Given the description of an element on the screen output the (x, y) to click on. 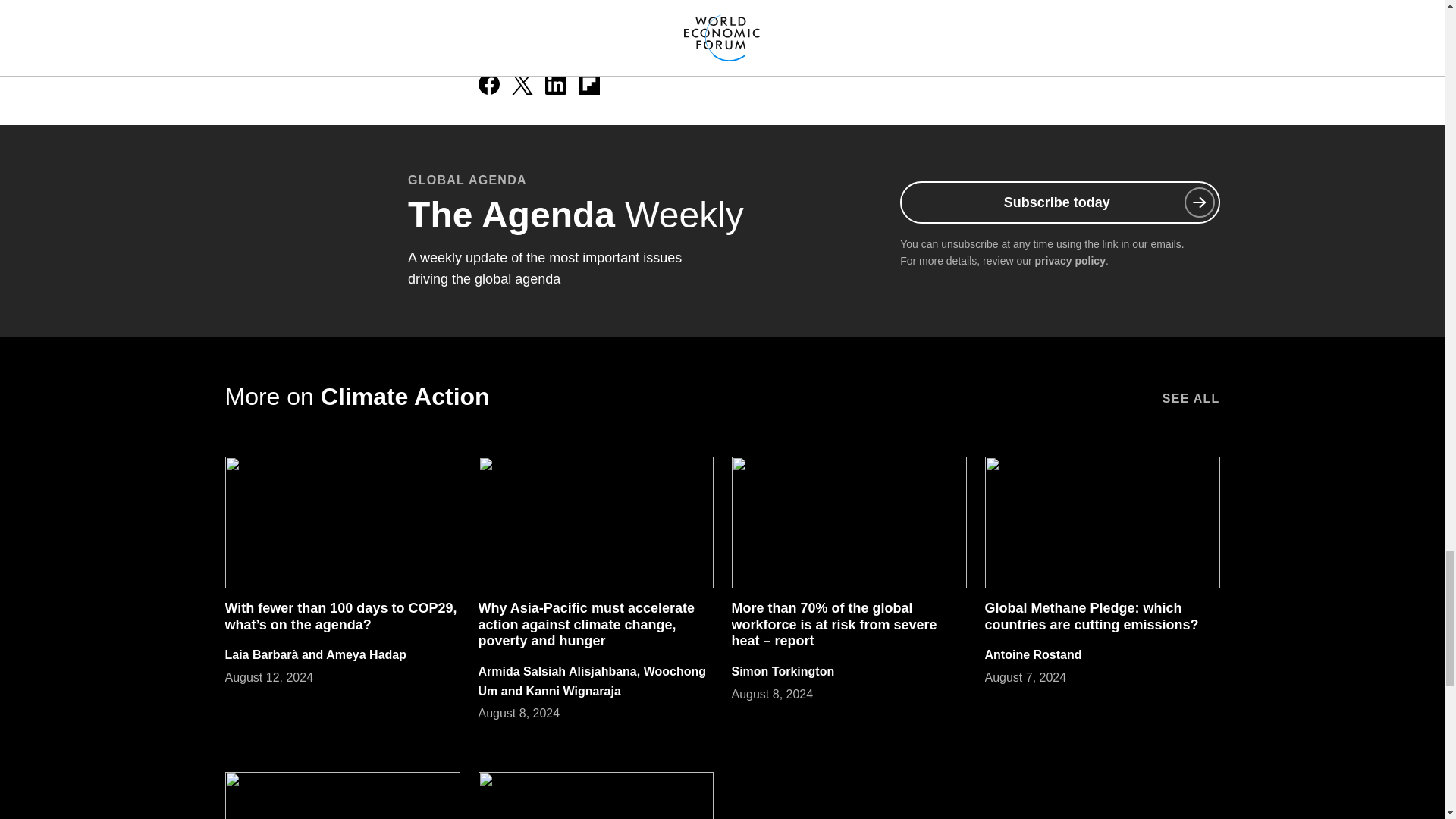
SEE ALL (1190, 396)
Subscribe today (1059, 201)
privacy policy (1070, 260)
